Given the description of an element on the screen output the (x, y) to click on. 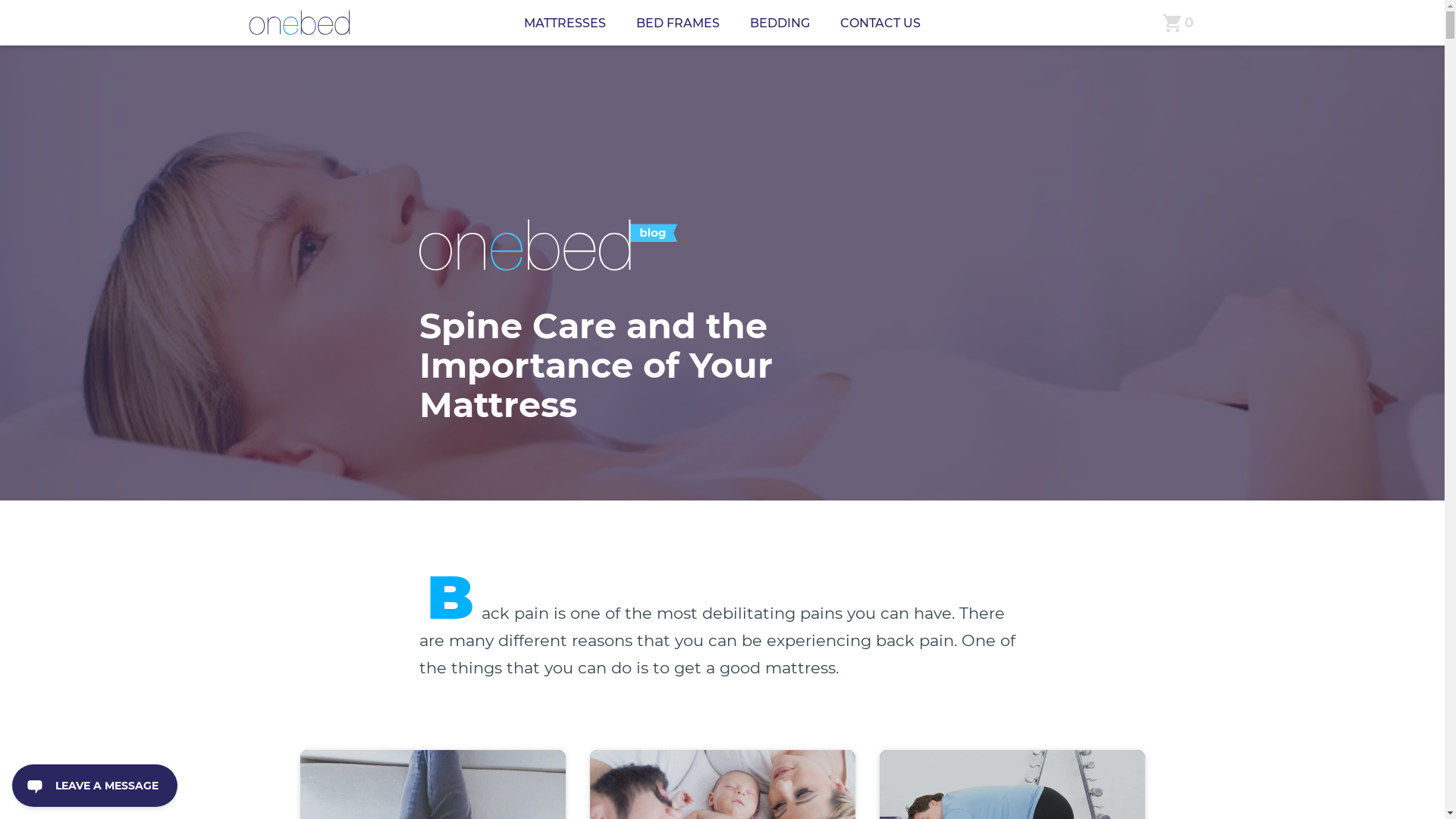
LEAVE A MESSAGE Element type: text (94, 785)
MATTRESSES Element type: text (564, 22)
BED FRAMES Element type: text (677, 22)
CONTACT US Element type: text (880, 22)
BEDDING Element type: text (779, 22)
Home Element type: text (298, 22)
Cart
0 Element type: text (1177, 22)
